Given the description of an element on the screen output the (x, y) to click on. 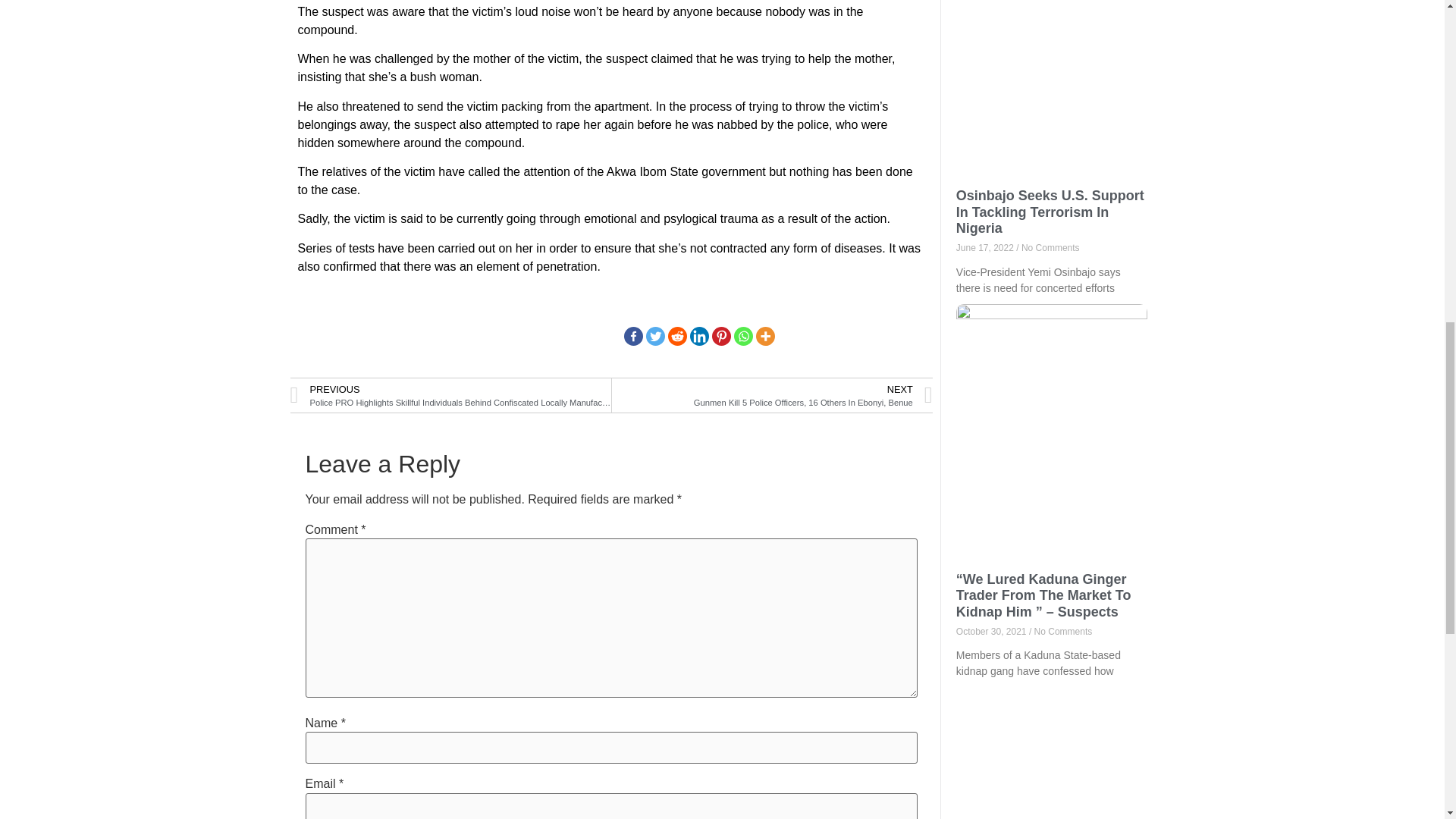
Facebook (633, 335)
Twitter (655, 335)
Reddit (677, 335)
